Given the description of an element on the screen output the (x, y) to click on. 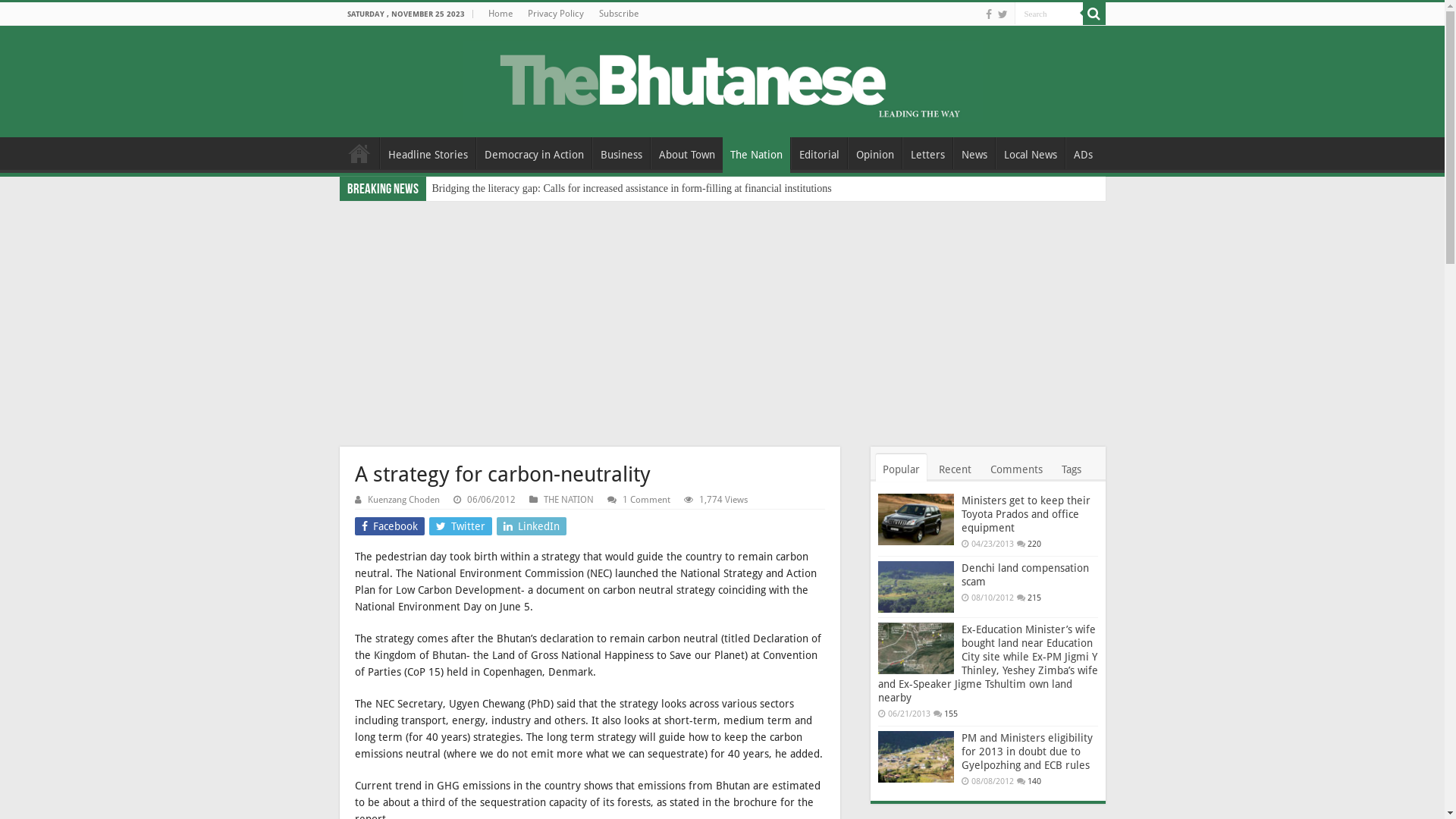
Opinion Element type: text (874, 153)
Home Element type: text (500, 13)
HOME Element type: text (359, 153)
About Town Element type: text (686, 153)
Bartsham-Shongphu debate hype among viewers Element type: text (536, 188)
Subscribe Element type: text (618, 13)
Popular Element type: text (900, 467)
1 Comment Element type: text (645, 499)
Privacy Policy Element type: text (555, 13)
Comments Element type: text (1015, 467)
Recent Element type: text (954, 467)
Denchi land compensation scam Element type: hover (915, 586)
LinkedIn Element type: text (530, 526)
Democracy in Action Element type: text (533, 153)
THE NATION Element type: text (567, 499)
Headline Stories Element type: text (426, 153)
News Element type: text (973, 153)
Denchi land compensation scam Element type: text (1024, 574)
Twitter Element type: hover (1002, 14)
Search Element type: hover (1048, 13)
215 Element type: text (1033, 597)
Letters Element type: text (927, 153)
220 Element type: text (1033, 544)
Editorial Element type: text (818, 153)
Advertisement Element type: hover (721, 314)
ADs Element type: text (1081, 153)
The Bhutanese Element type: hover (722, 78)
Tags Element type: text (1070, 467)
Local News Element type: text (1028, 153)
Facebook Element type: hover (988, 14)
The Nation Element type: text (755, 152)
Facebook Element type: text (389, 526)
140 Element type: text (1033, 781)
Kuenzang Choden Element type: text (403, 499)
Search Element type: text (1093, 13)
Twitter Element type: text (460, 526)
155 Element type: text (950, 713)
Business Element type: text (620, 153)
